Given the description of an element on the screen output the (x, y) to click on. 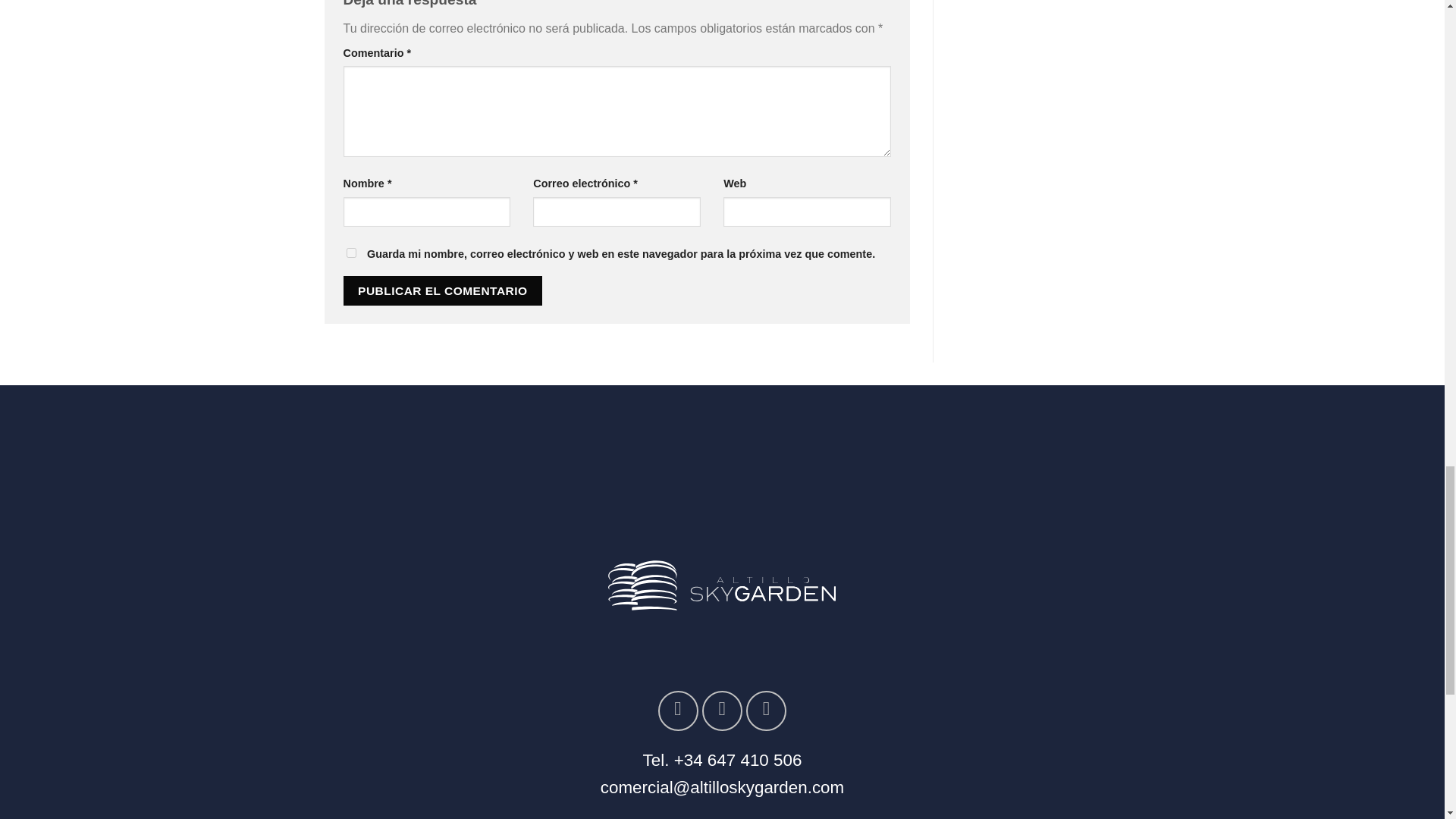
Publicar el comentario (441, 290)
Publicar el comentario (441, 290)
yes (350, 252)
